Given the description of an element on the screen output the (x, y) to click on. 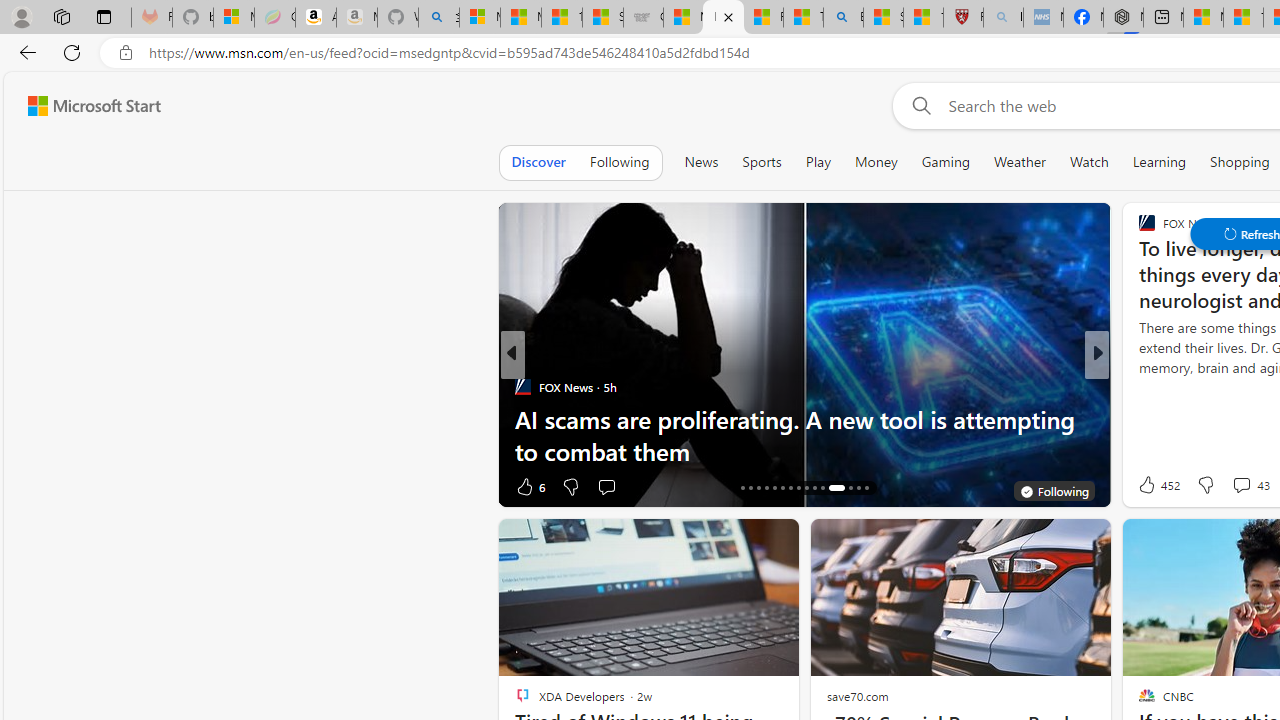
Hide this story (1147, 542)
182 Like (1151, 486)
AutomationID: tab-18 (757, 487)
